Given the description of an element on the screen output the (x, y) to click on. 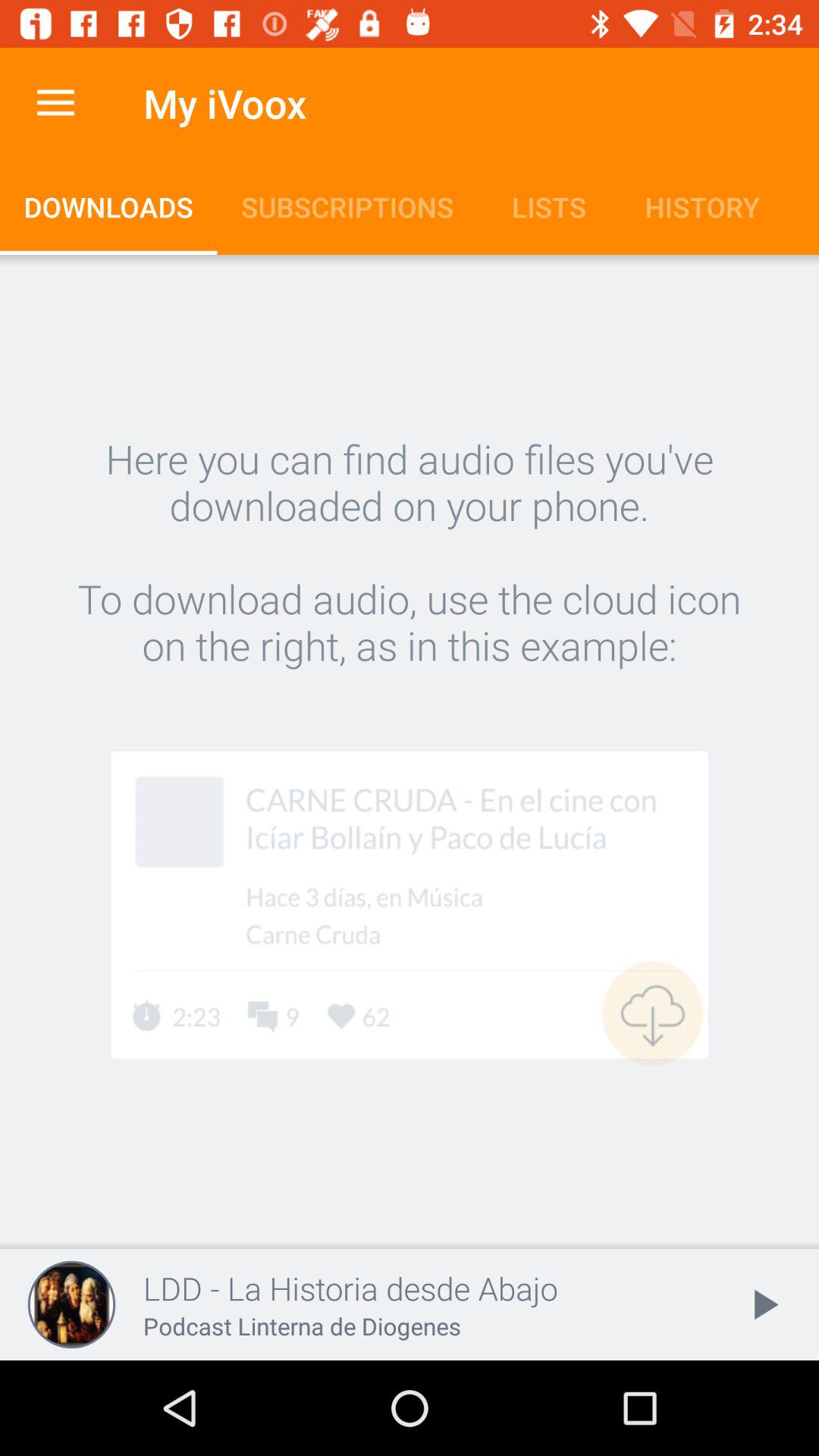
open the icon to the right of ldd la historia icon (763, 1304)
